Given the description of an element on the screen output the (x, y) to click on. 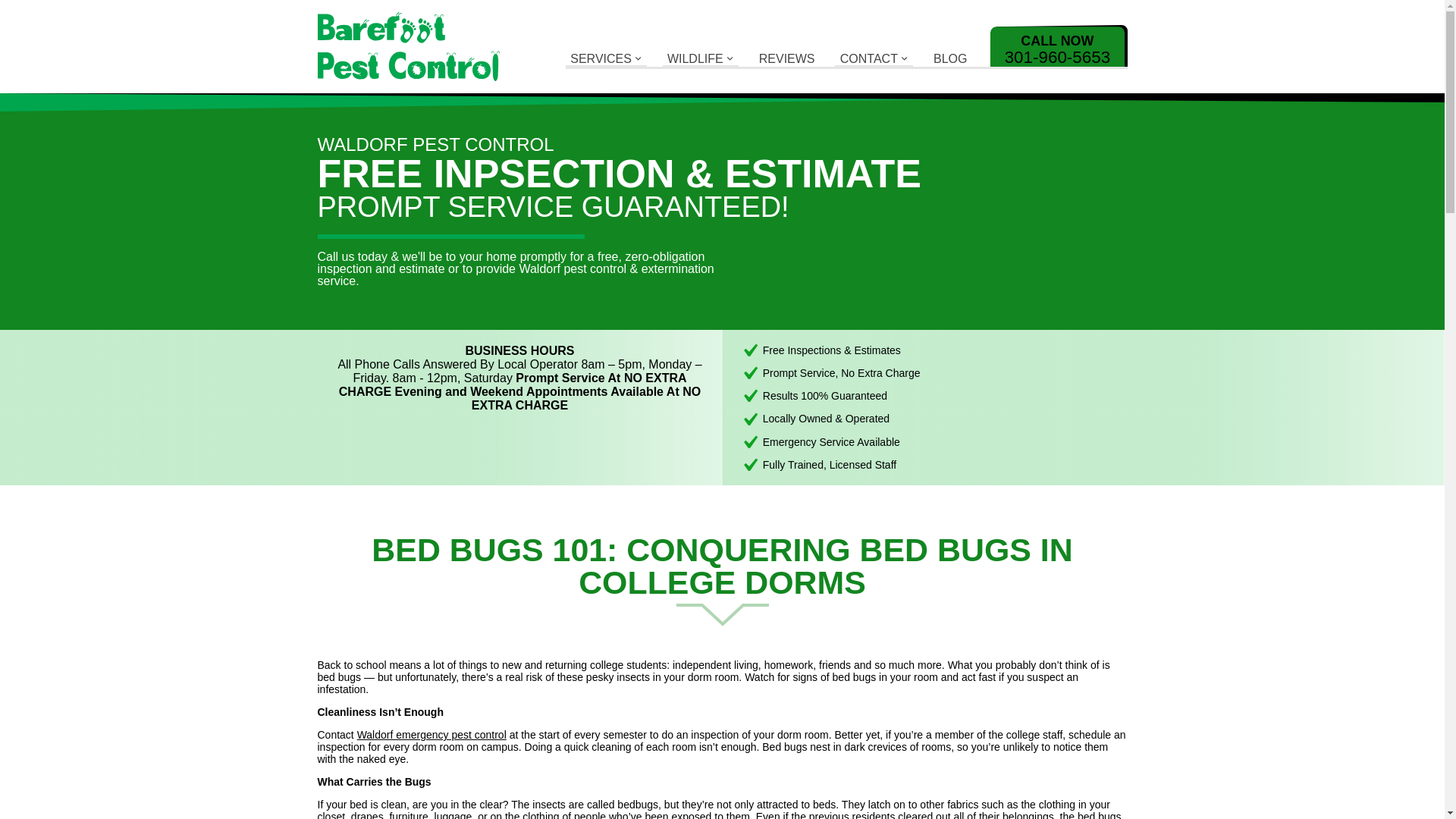
WILDLIFE (700, 59)
SERVICES (606, 59)
